Given the description of an element on the screen output the (x, y) to click on. 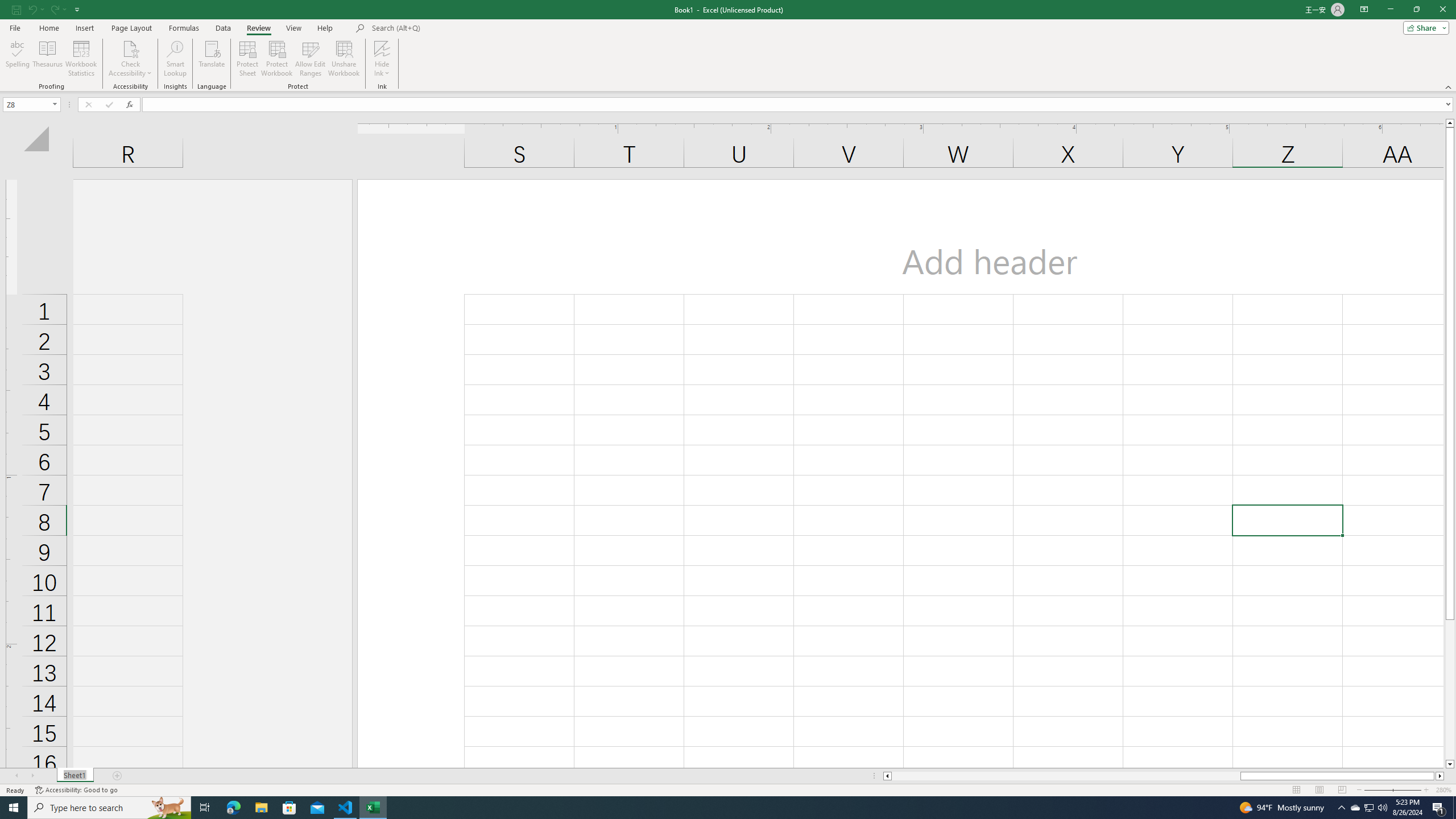
Thesaurus... (47, 58)
